Given the description of an element on the screen output the (x, y) to click on. 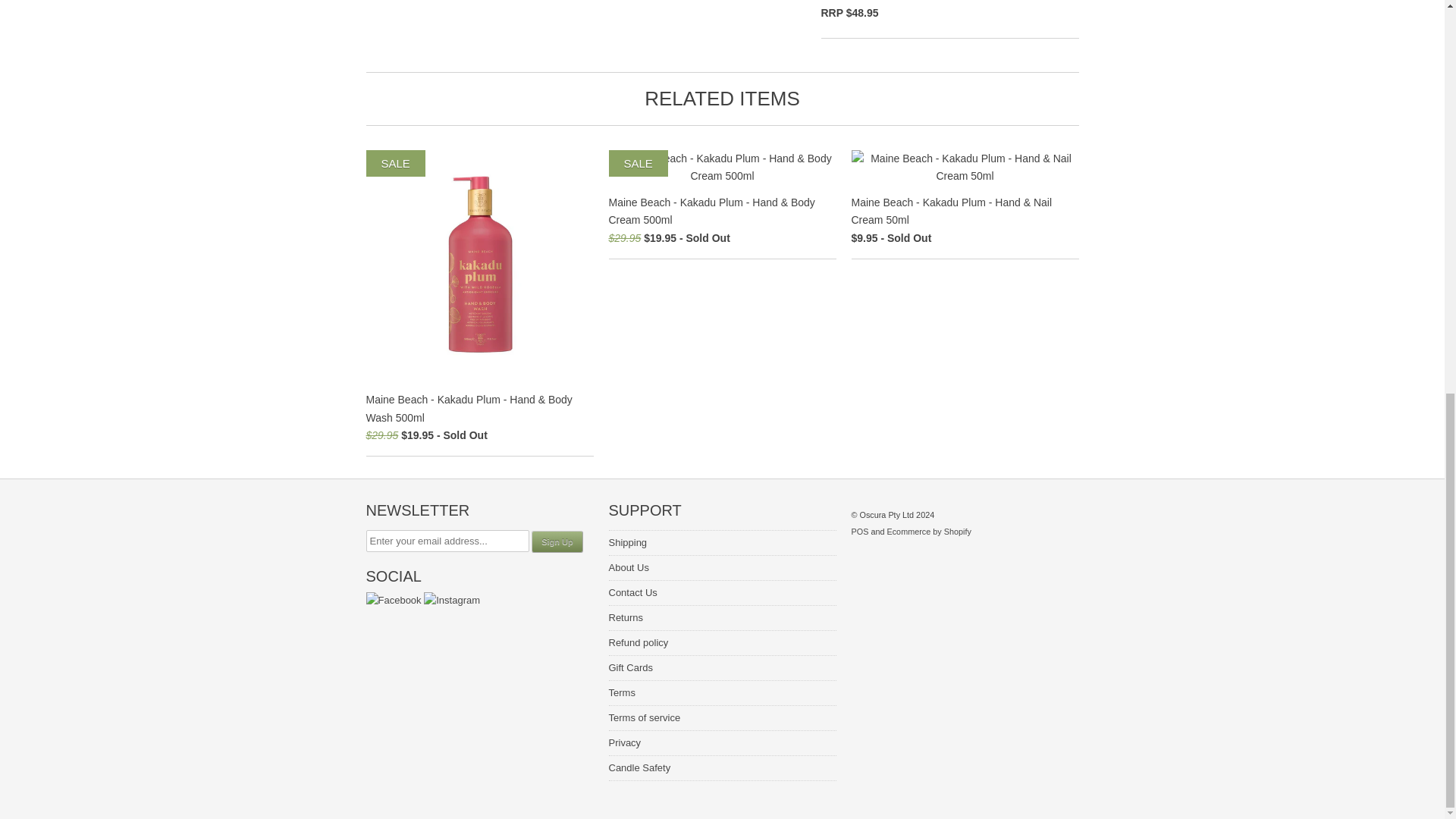
Sign Up (557, 541)
